Given the description of an element on the screen output the (x, y) to click on. 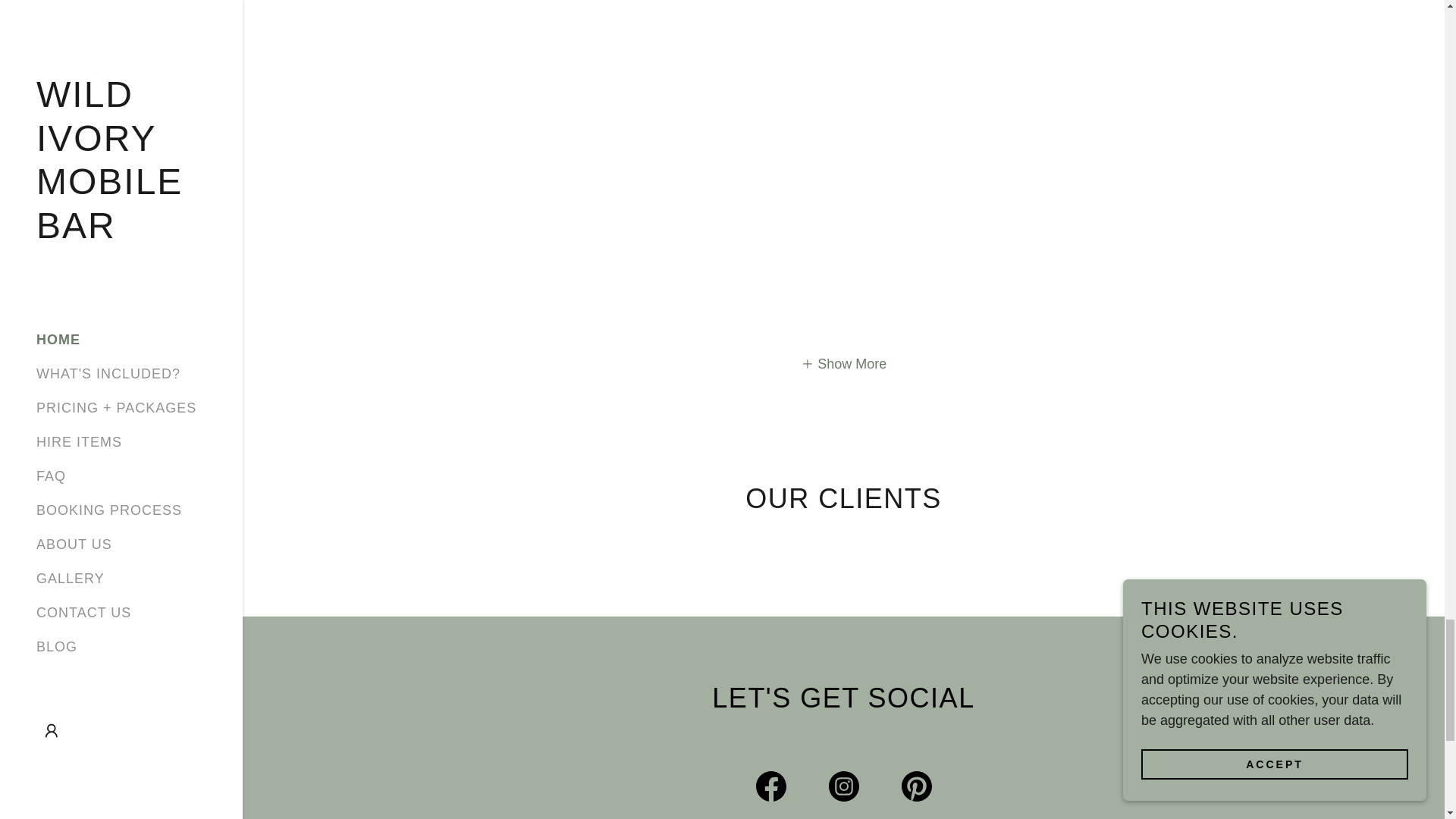
Show More (843, 363)
